Given the description of an element on the screen output the (x, y) to click on. 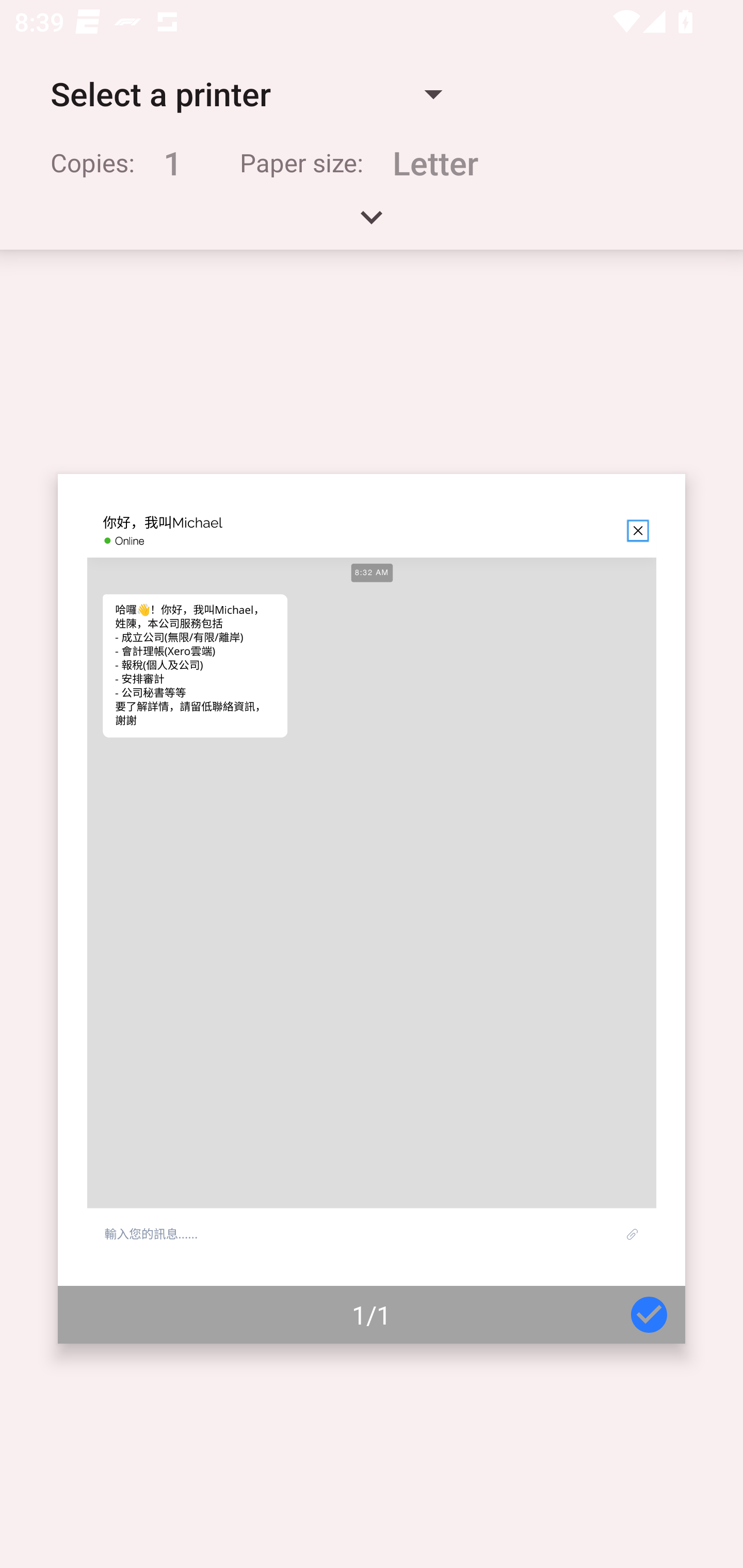
Select a printer (245, 93)
Expand handle (371, 224)
Page 1 of 1 1/1 (371, 908)
